Given the description of an element on the screen output the (x, y) to click on. 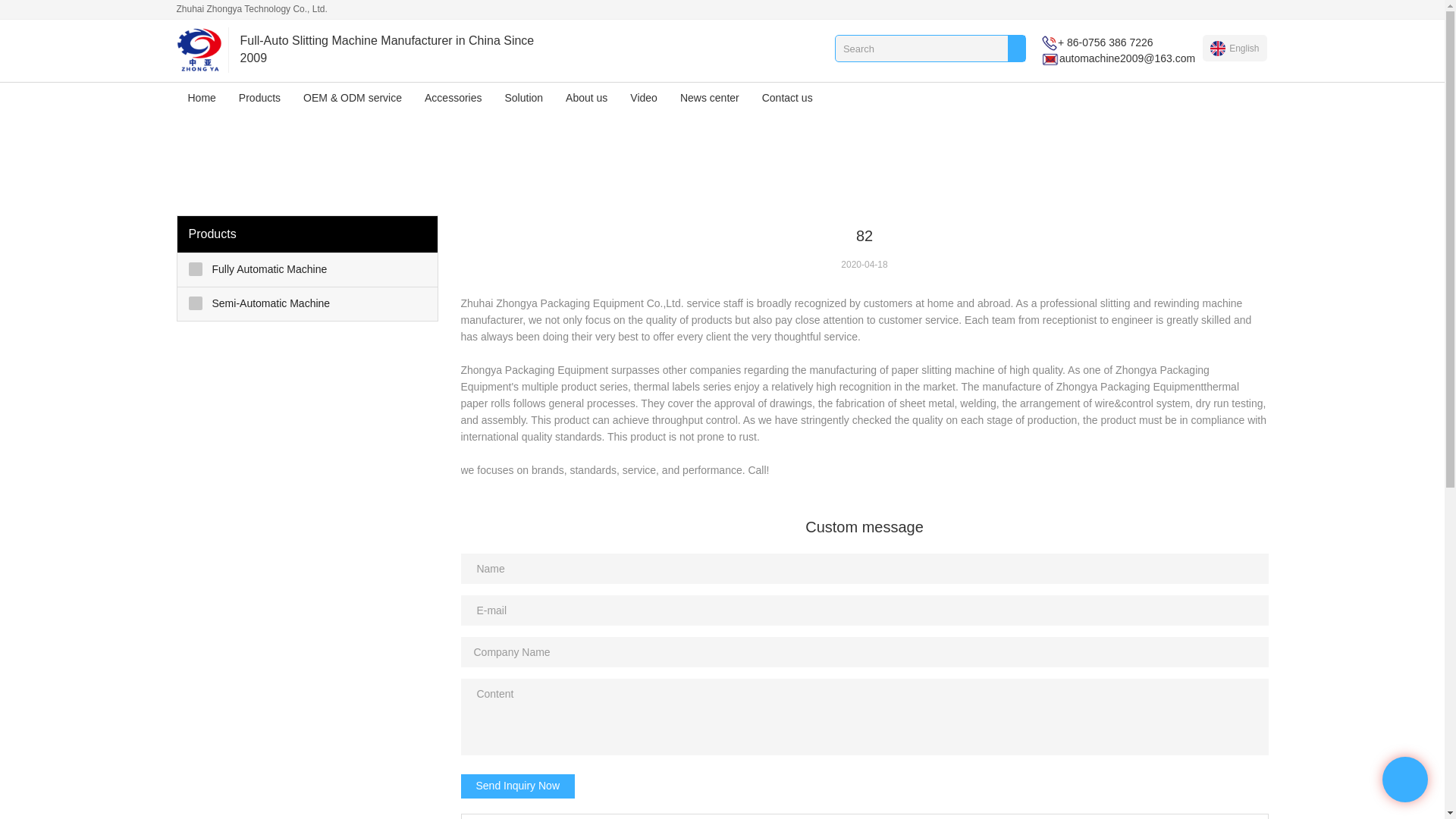
Contact us (787, 97)
Semi-Automatic Machine (307, 304)
Home (201, 97)
Products (259, 97)
English (1234, 47)
Solution (523, 97)
Send Inquiry Now (518, 785)
Video (643, 97)
News center (709, 97)
About us (586, 97)
Fully Automatic Machine (307, 269)
Accessories (453, 97)
